Given the description of an element on the screen output the (x, y) to click on. 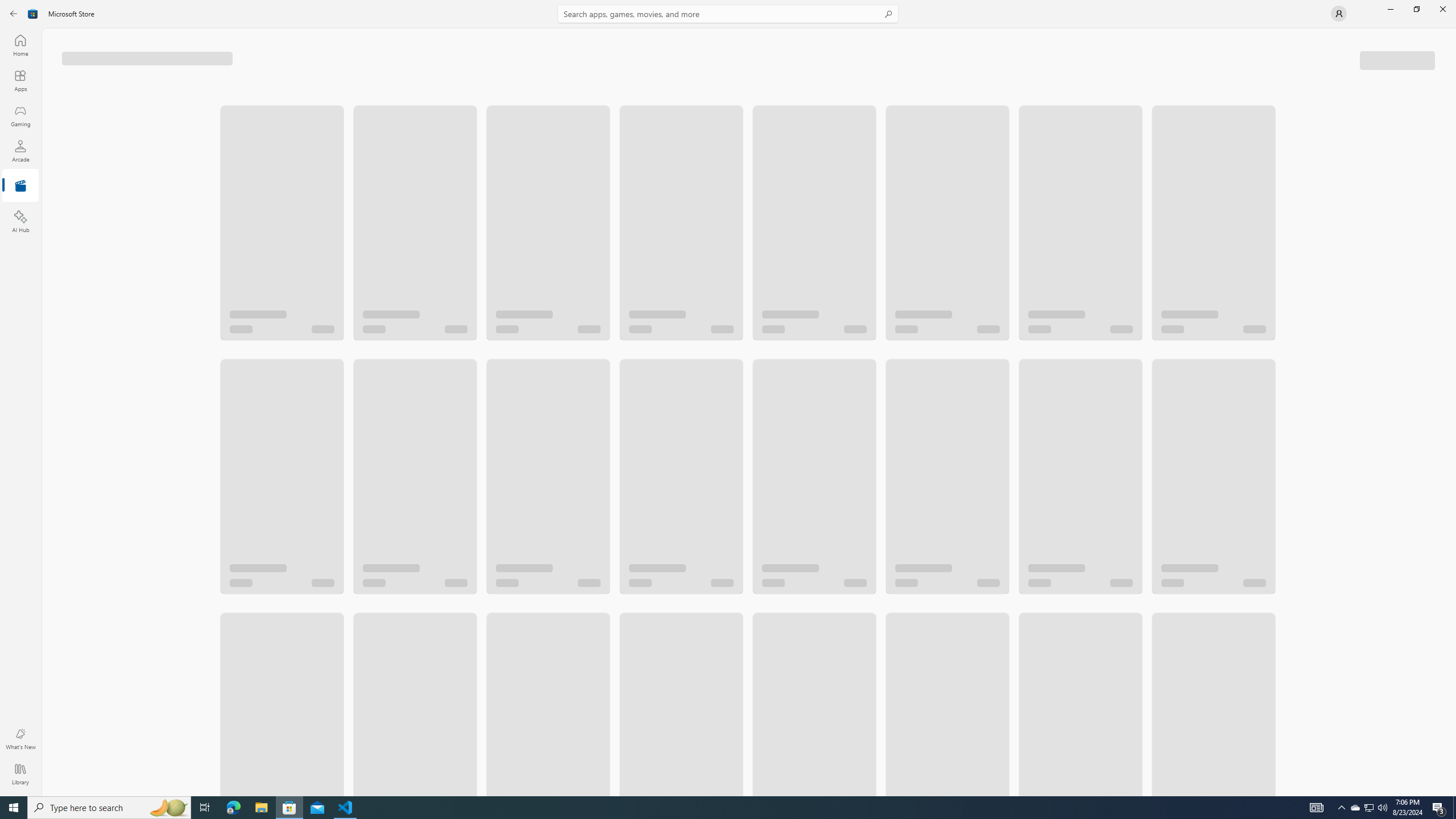
Gaming (20, 115)
Home (20, 45)
Restore Microsoft Store (1416, 9)
Vertical Small Decrease (1452, 31)
Apps (20, 80)
Vertical Small Increase (1452, 792)
THE WOLF OF WALL STREET. On Sale Starts at $2.99   (947, 211)
Class: Image (32, 13)
No Country for Old Men. Buy on sale or stream    (1079, 444)
Entertainment (20, 185)
Twisters Double Feature. Starts at $29.99   (680, 211)
